Given the description of an element on the screen output the (x, y) to click on. 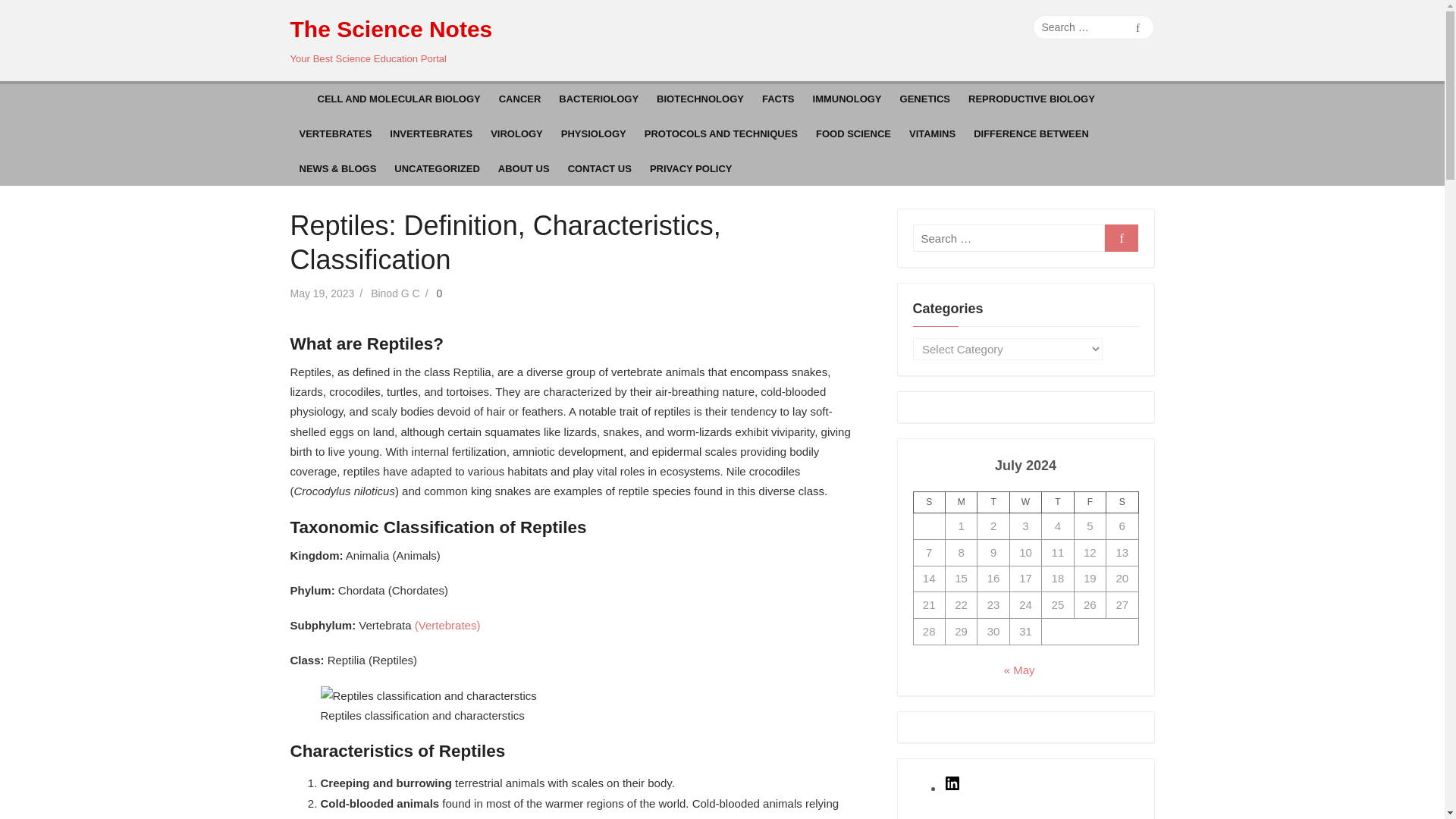
Tuesday (992, 502)
FACTS (777, 98)
Monday (960, 502)
The Science Notes (390, 29)
PRIVACY POLICY (690, 167)
REPRODUCTIVE BIOLOGY (1031, 98)
Sunday (928, 502)
VITAMINS (931, 133)
BIOTECHNOLOGY (699, 98)
PHYSIOLOGY (592, 133)
FOOD SCIENCE (852, 133)
Search (1137, 27)
Saturday (1122, 502)
INVERTEBRATES (430, 133)
CANCER (519, 98)
